Given the description of an element on the screen output the (x, y) to click on. 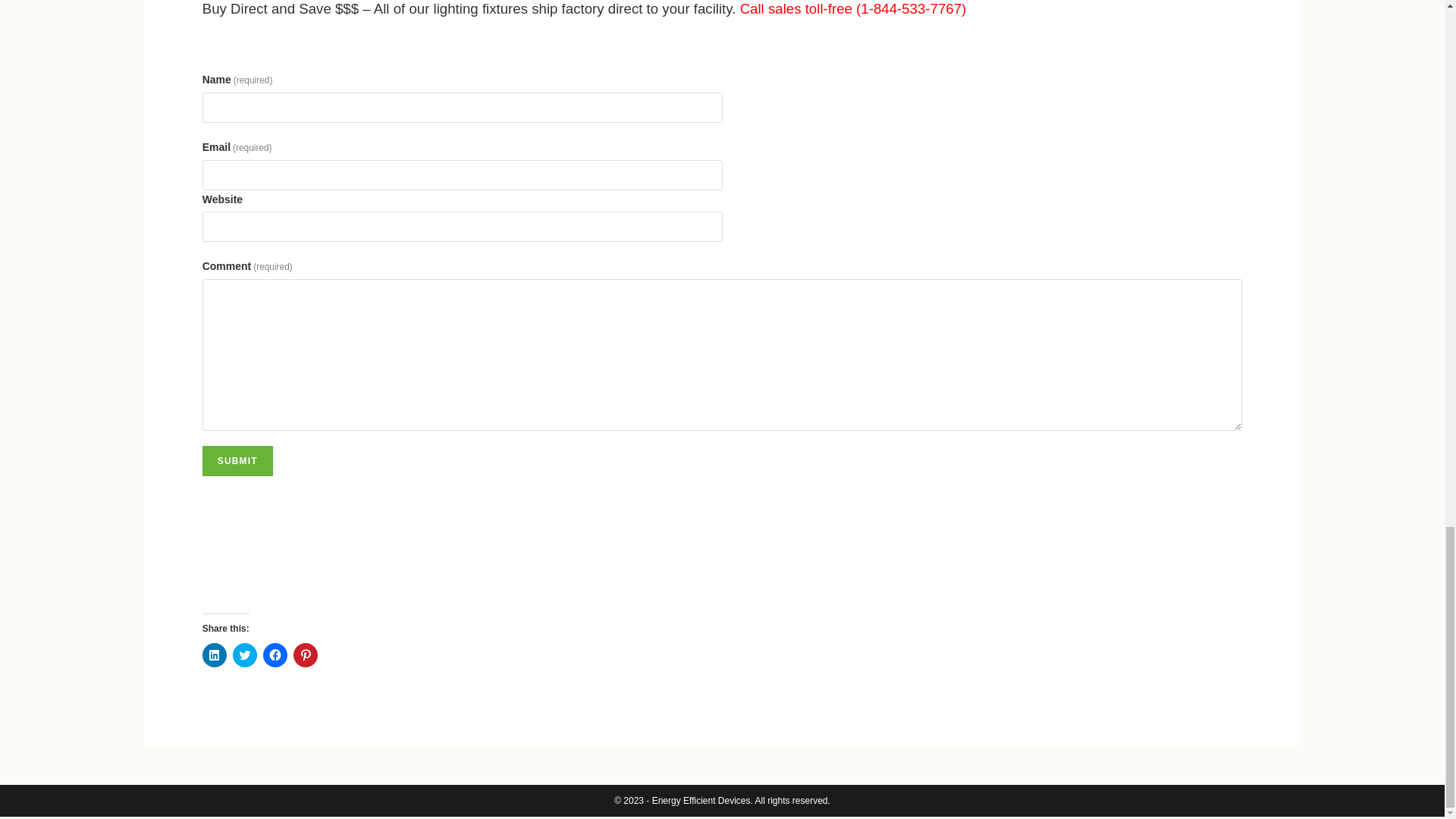
Click to share on LinkedIn (214, 654)
Click to share on Pinterest (305, 654)
Click to share on Facebook (274, 654)
Click to share on Twitter (244, 654)
